Given the description of an element on the screen output the (x, y) to click on. 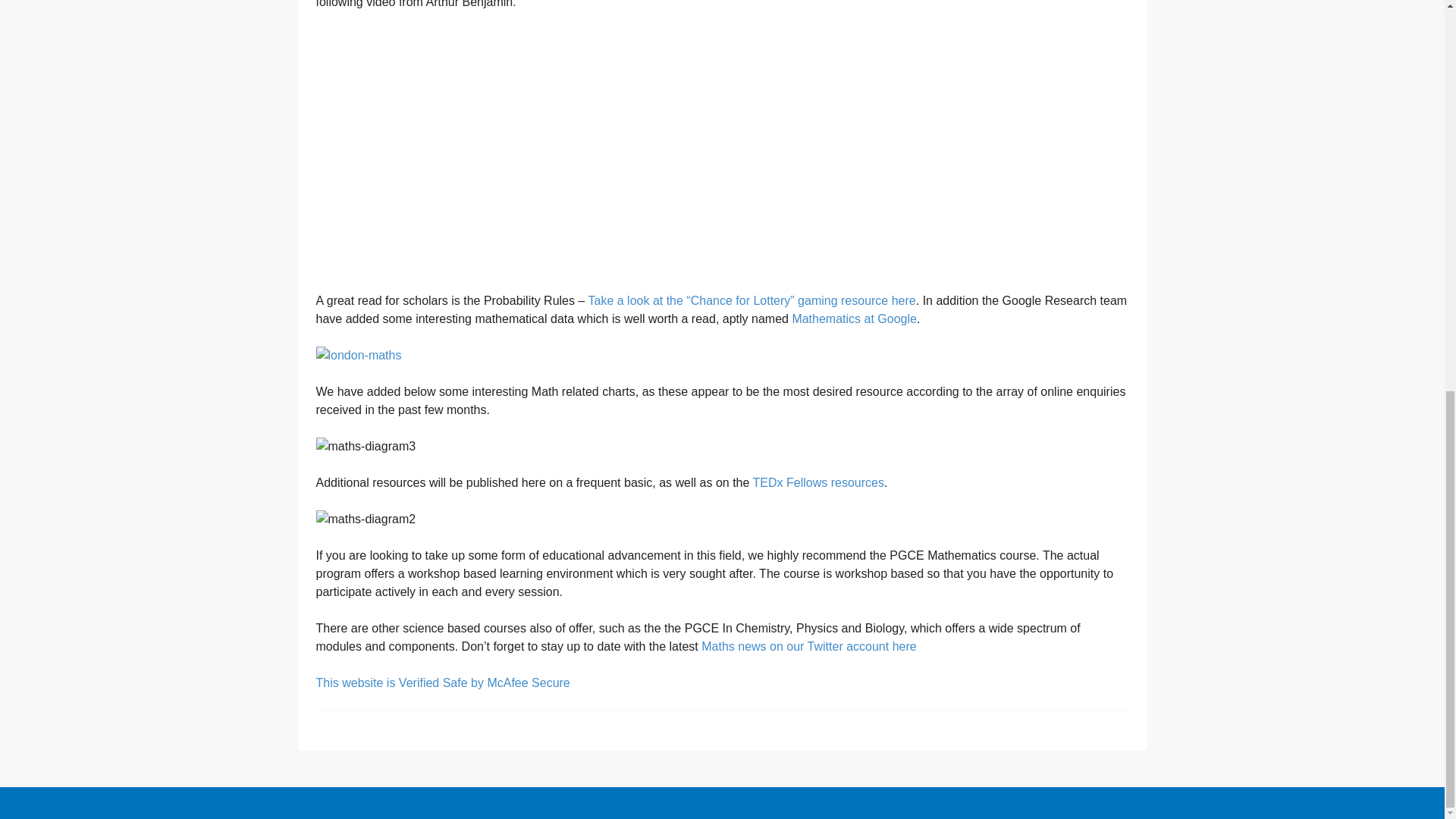
Mathematics at Google (854, 318)
Maths news on our Twitter account here (808, 645)
TEDx Fellows resources (817, 481)
This website is Verified Safe by McAfee Secure (442, 682)
